Given the description of an element on the screen output the (x, y) to click on. 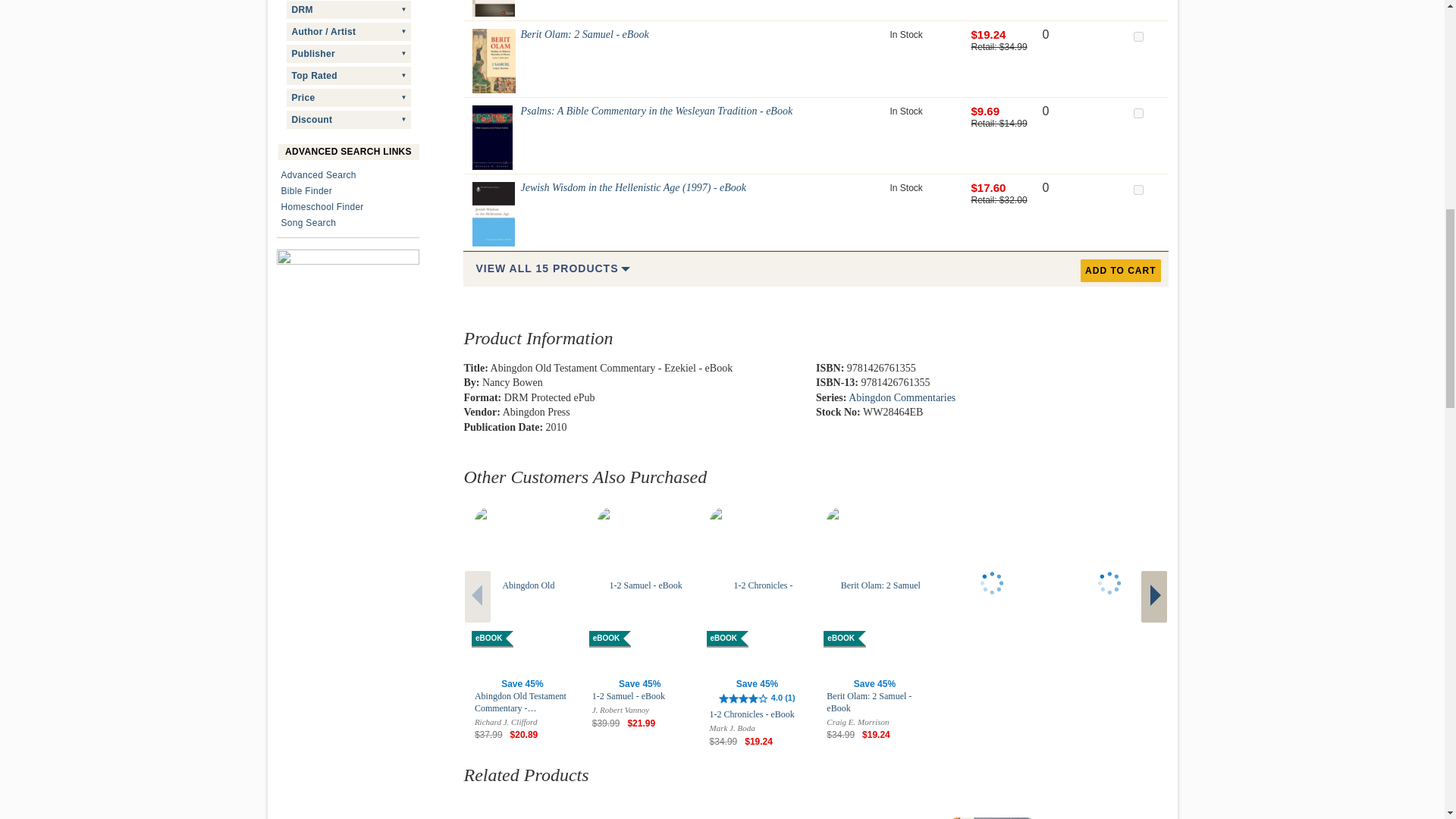
62427EB (1137, 36)
1-2 Chronicles - eBook (493, 7)
49846EB (1137, 112)
71654EB (1137, 189)
